Given the description of an element on the screen output the (x, y) to click on. 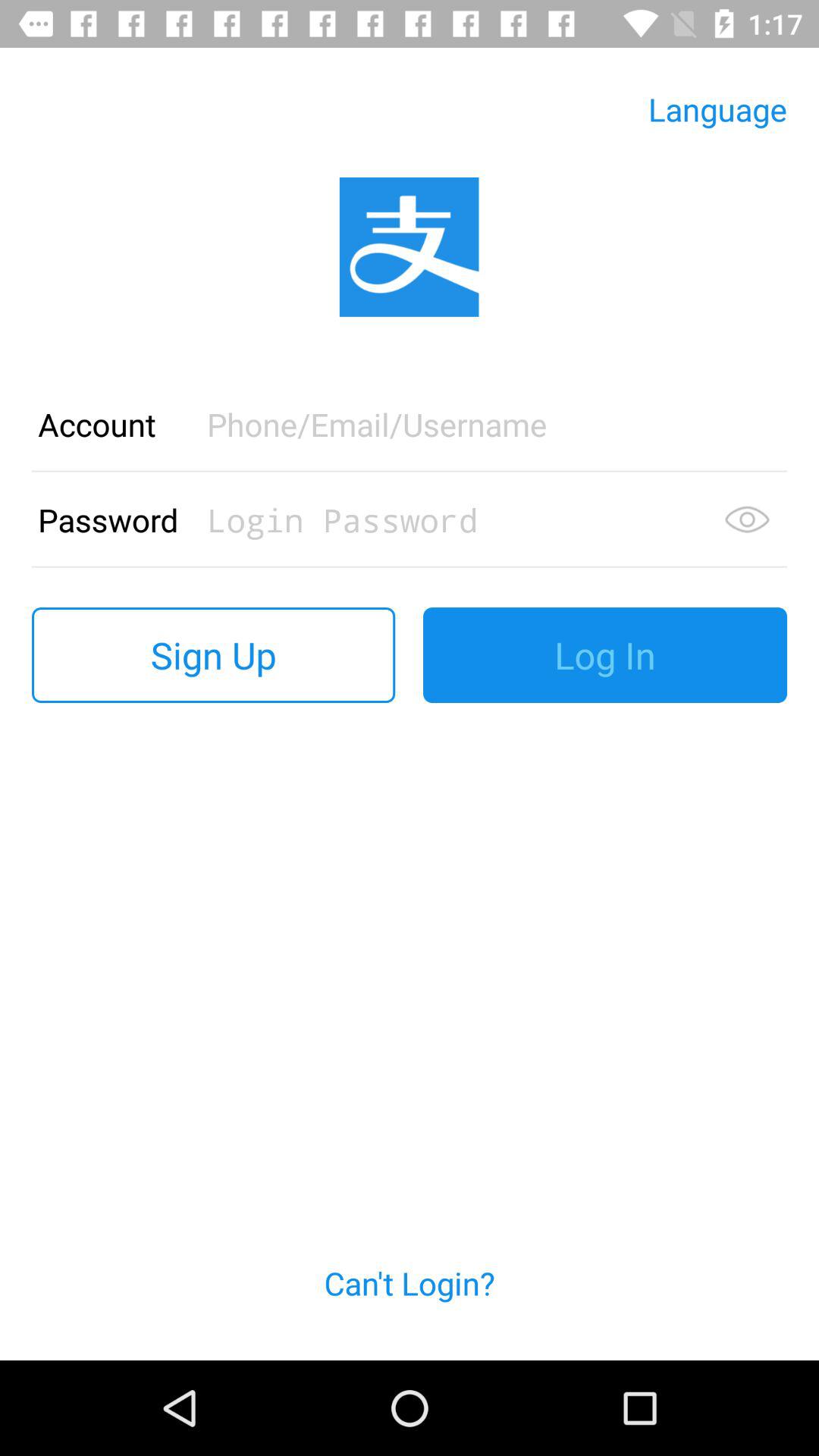
open the item below sign up icon (409, 1300)
